Given the description of an element on the screen output the (x, y) to click on. 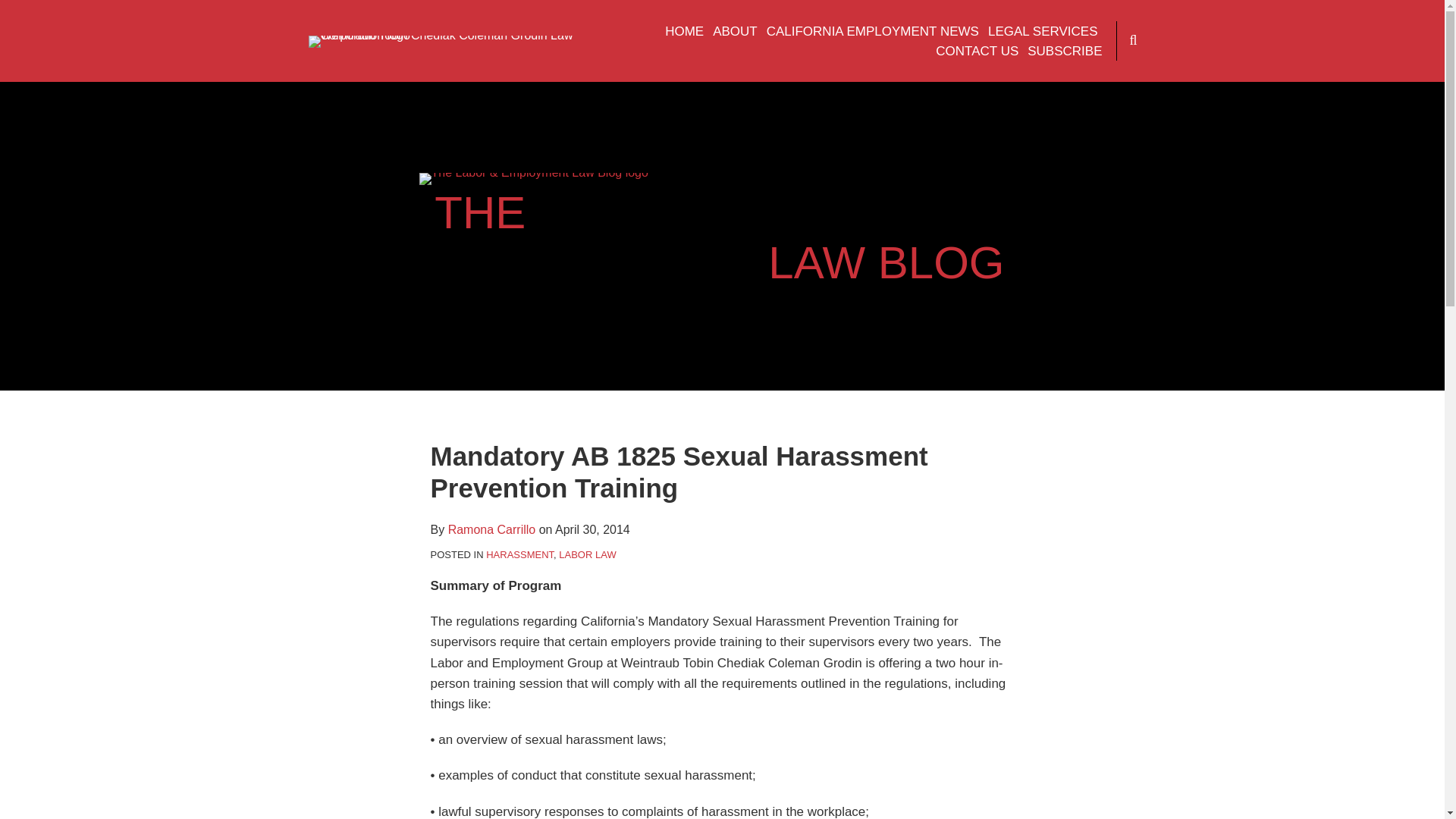
CONTACT US (976, 51)
Ramona Carrillo (491, 529)
HOME (684, 31)
SUBSCRIBE (1064, 51)
CALIFORNIA EMPLOYMENT NEWS (872, 31)
LEGAL SERVICES (1042, 31)
HARASSMENT (519, 554)
ABOUT (735, 31)
LABOR LAW (587, 554)
